Given the description of an element on the screen output the (x, y) to click on. 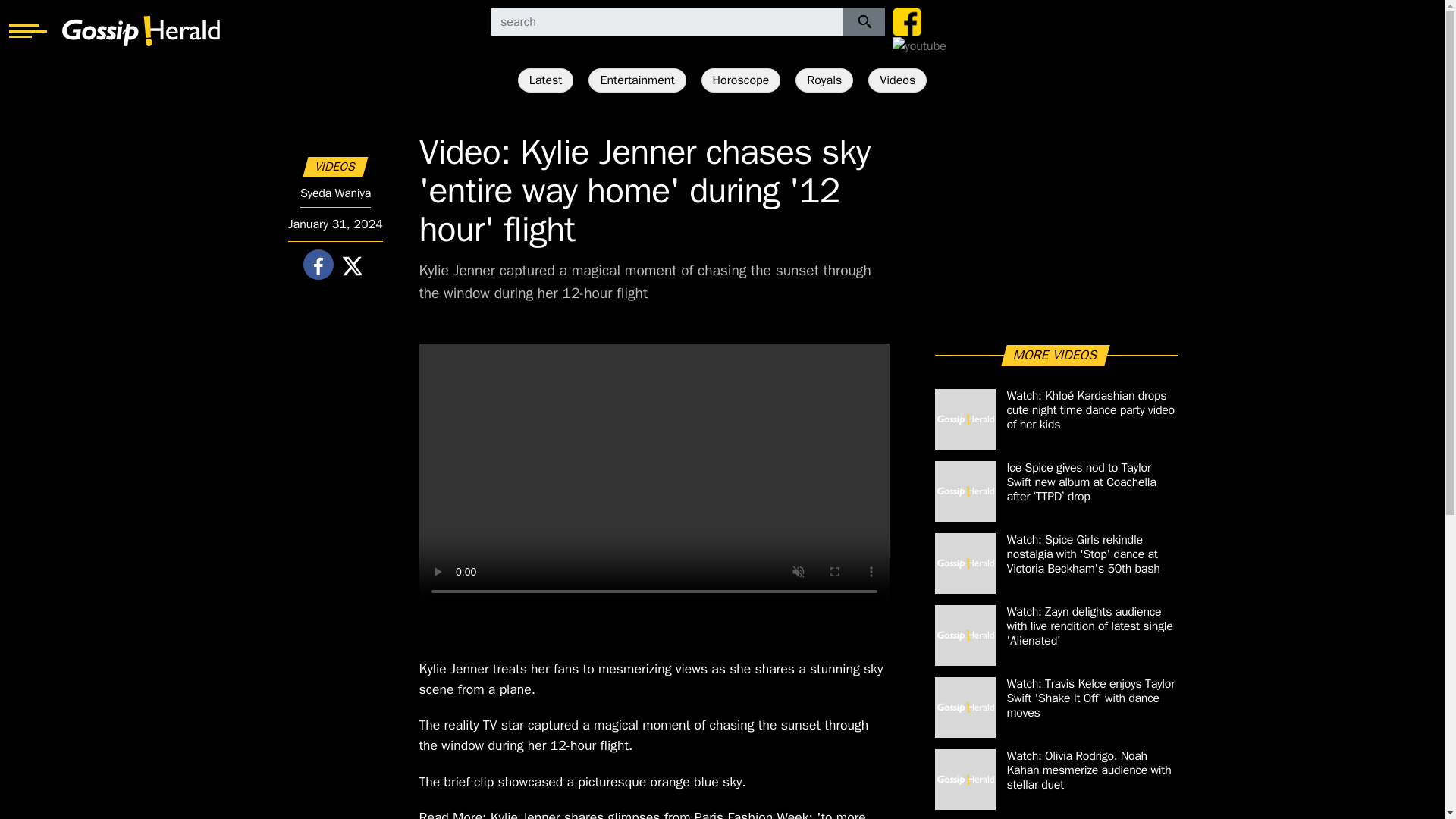
Royals (823, 79)
Gossip Herald (140, 30)
Horoscope (740, 79)
Gossip Herald (140, 30)
VIDEOS (335, 166)
Syeda Waniya (335, 192)
Videos (896, 79)
Entertainment (636, 79)
Horoscope (740, 79)
Latest News (545, 79)
